Given the description of an element on the screen output the (x, y) to click on. 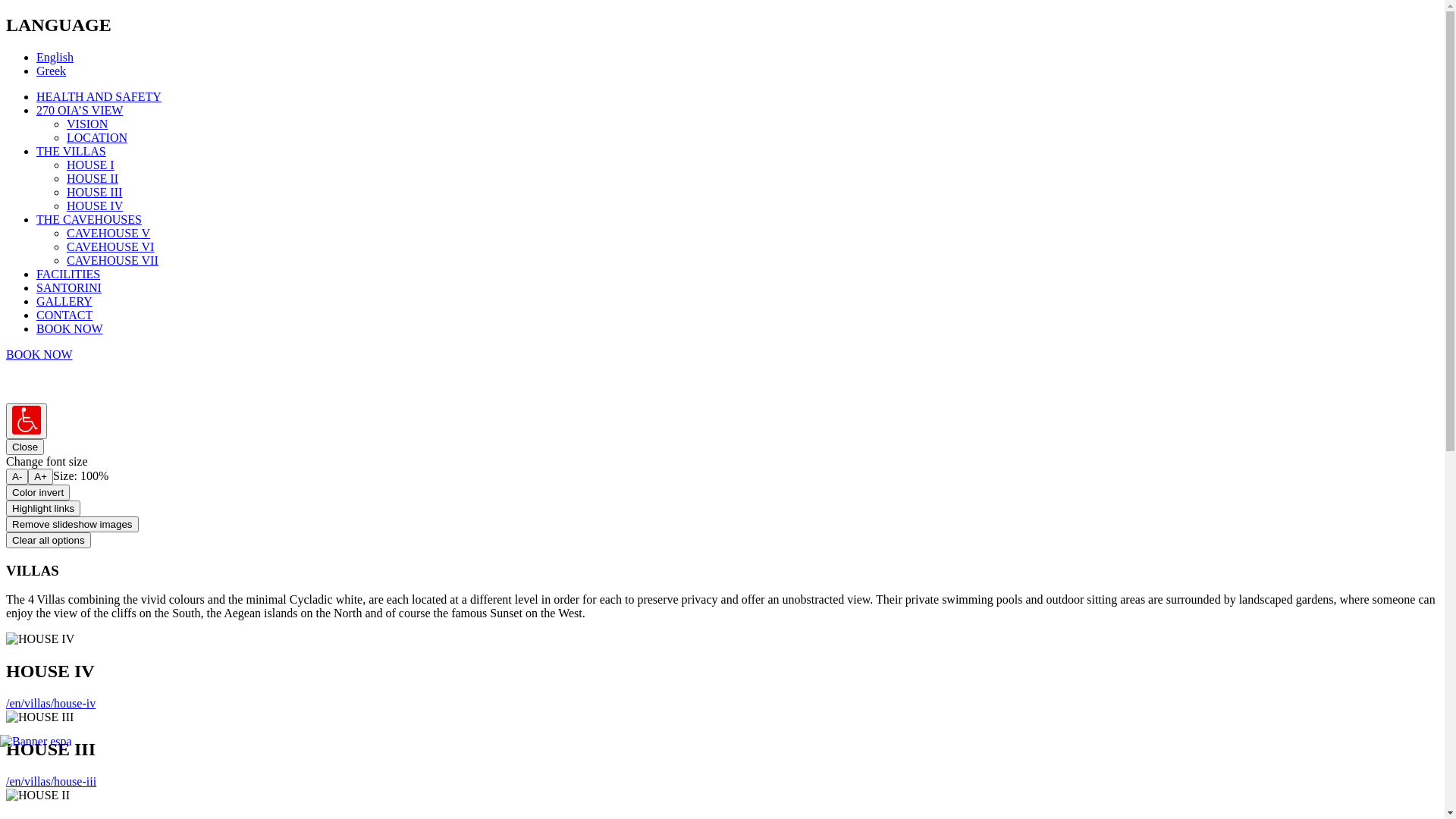
THE VILLAS Element type: text (71, 150)
CAVEHOUSE VII Element type: text (112, 260)
Remove slideshow images Element type: text (72, 524)
HOUSE III Element type: text (94, 191)
A+ Element type: text (40, 476)
Accessibility Helper sidebar Element type: hover (26, 421)
VISION Element type: text (86, 123)
/en/villas/house-iii Element type: text (51, 781)
HEALTH AND SAFETY Element type: text (98, 96)
CONTACT Element type: text (64, 314)
Highlight links Element type: text (43, 508)
English Element type: text (54, 56)
BOOK NOW Element type: text (39, 354)
MENU Element type: text (22, 386)
/en/villas/house-iv Element type: text (50, 702)
Close Element type: text (24, 447)
THE CAVEHOUSES Element type: text (88, 219)
FACILITIES Element type: text (68, 273)
CAVEHOUSE V Element type: text (108, 232)
GALLERY Element type: text (64, 300)
LOCATION Element type: text (96, 137)
Clear all options Element type: text (48, 540)
HOUSE II Element type: text (92, 178)
SANTORINI Element type: text (68, 287)
BOOK NOW Element type: text (69, 328)
HOUSE IV Element type: text (94, 205)
A- Element type: text (17, 476)
Greek Element type: text (50, 70)
HOUSE I Element type: text (90, 164)
Color invert Element type: text (37, 492)
CAVEHOUSE VI Element type: text (109, 246)
